Given the description of an element on the screen output the (x, y) to click on. 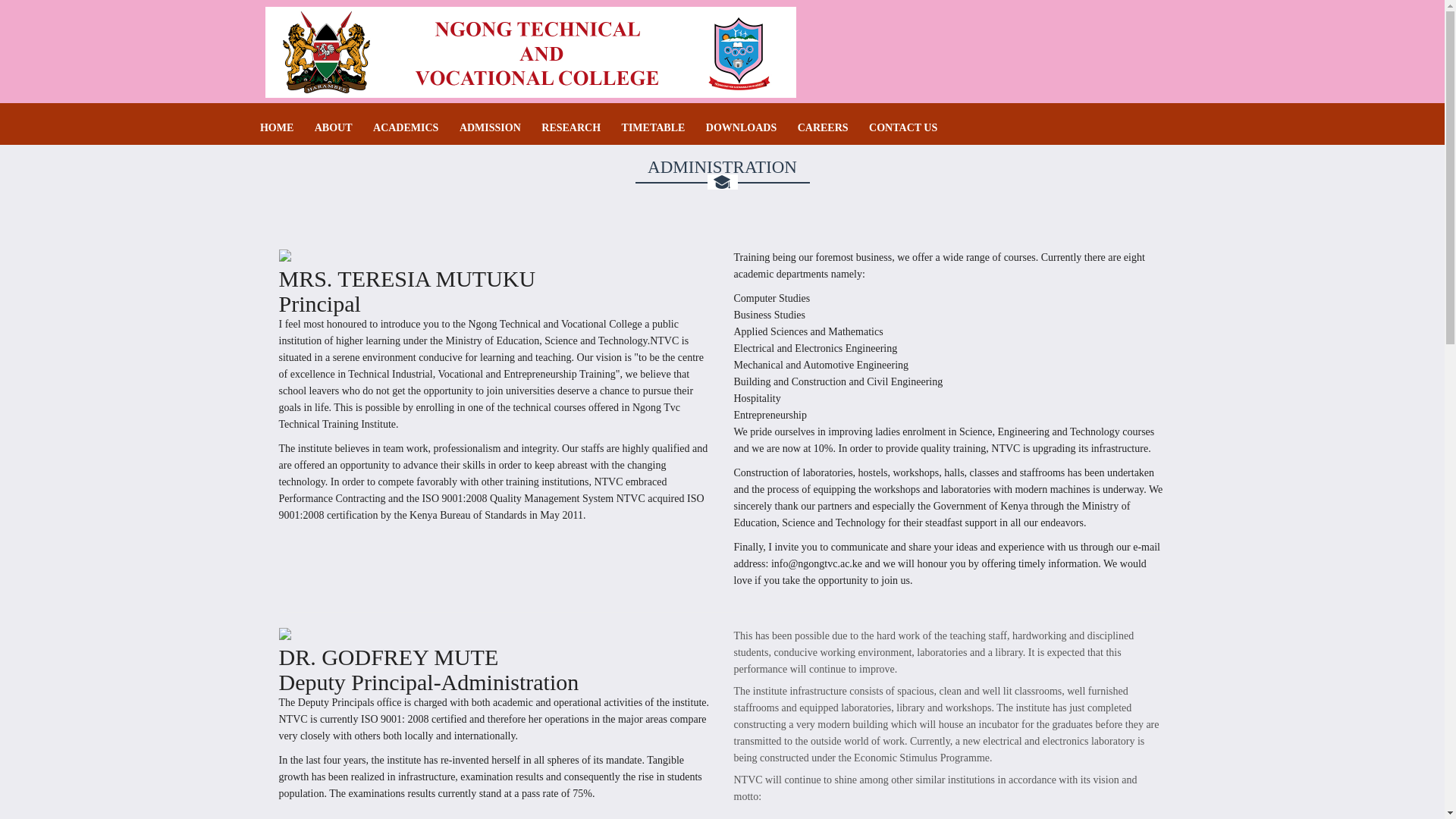
DOWNLOADS (741, 127)
TIMETABLE (653, 127)
ABOUT (333, 127)
HOME (277, 127)
CAREERS (822, 127)
ACADEMICS (405, 127)
ADMISSION (490, 127)
RESEARCH (570, 127)
